Given the description of an element on the screen output the (x, y) to click on. 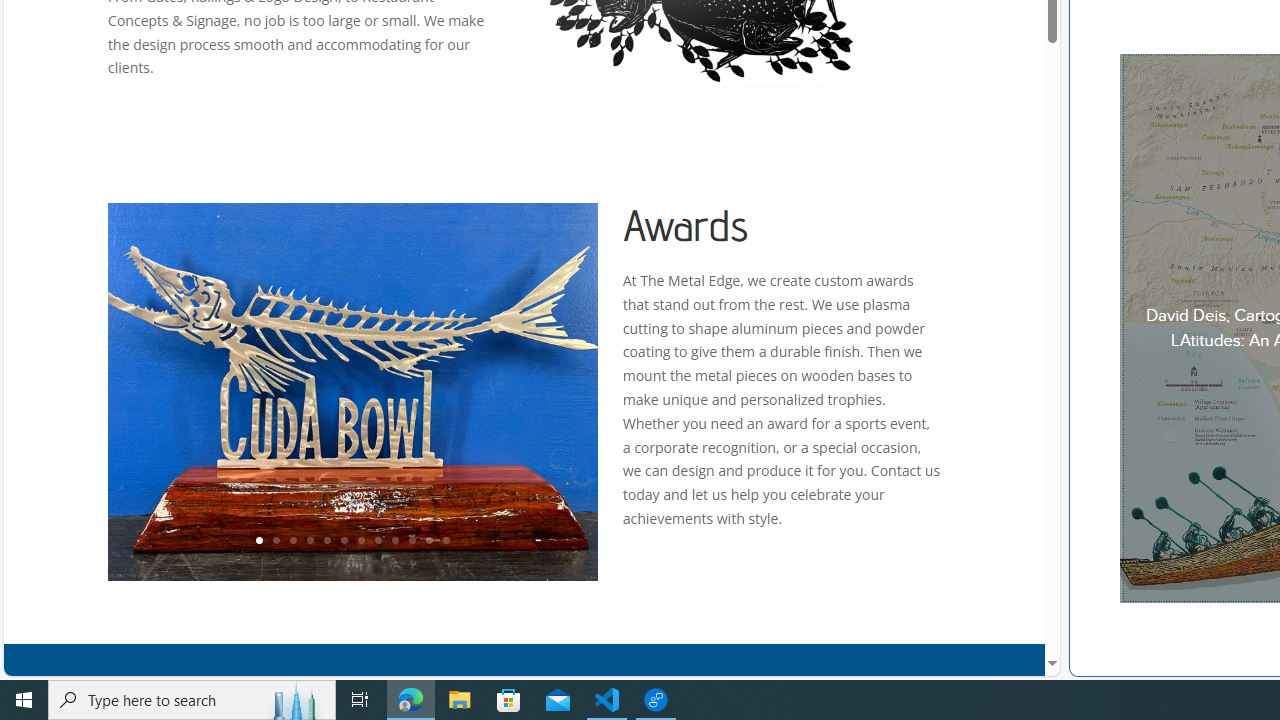
3 (292, 541)
11 (428, 541)
9 (394, 541)
1 (258, 541)
8 (377, 541)
12 (445, 541)
5 (326, 541)
2 (275, 541)
4 (309, 541)
7 (360, 541)
10 (412, 541)
6 (344, 541)
